Given the description of an element on the screen output the (x, y) to click on. 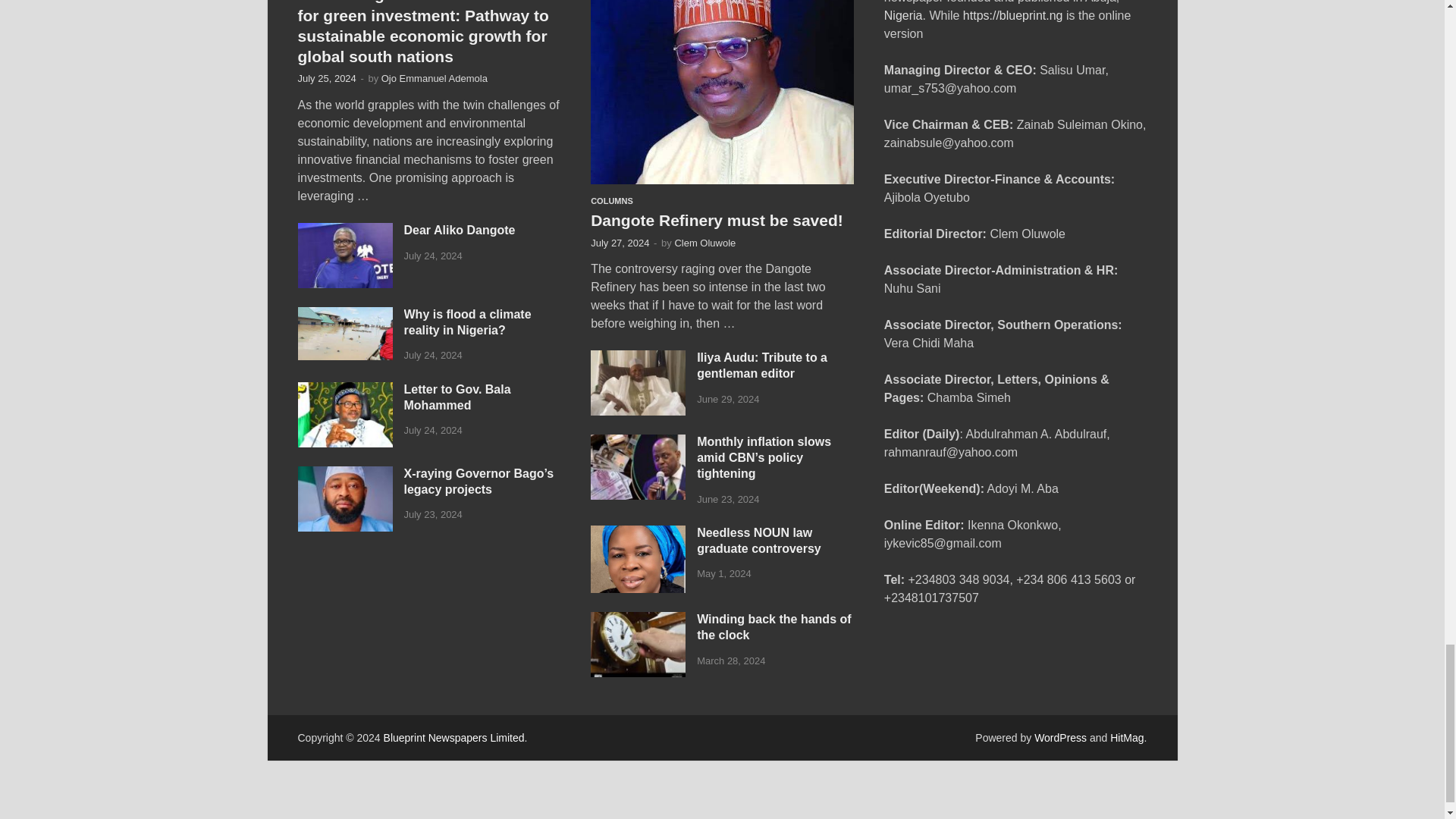
Dear Aliko Dangote (344, 231)
Why is flood a climate reality in Nigeria? (344, 315)
